Given the description of an element on the screen output the (x, y) to click on. 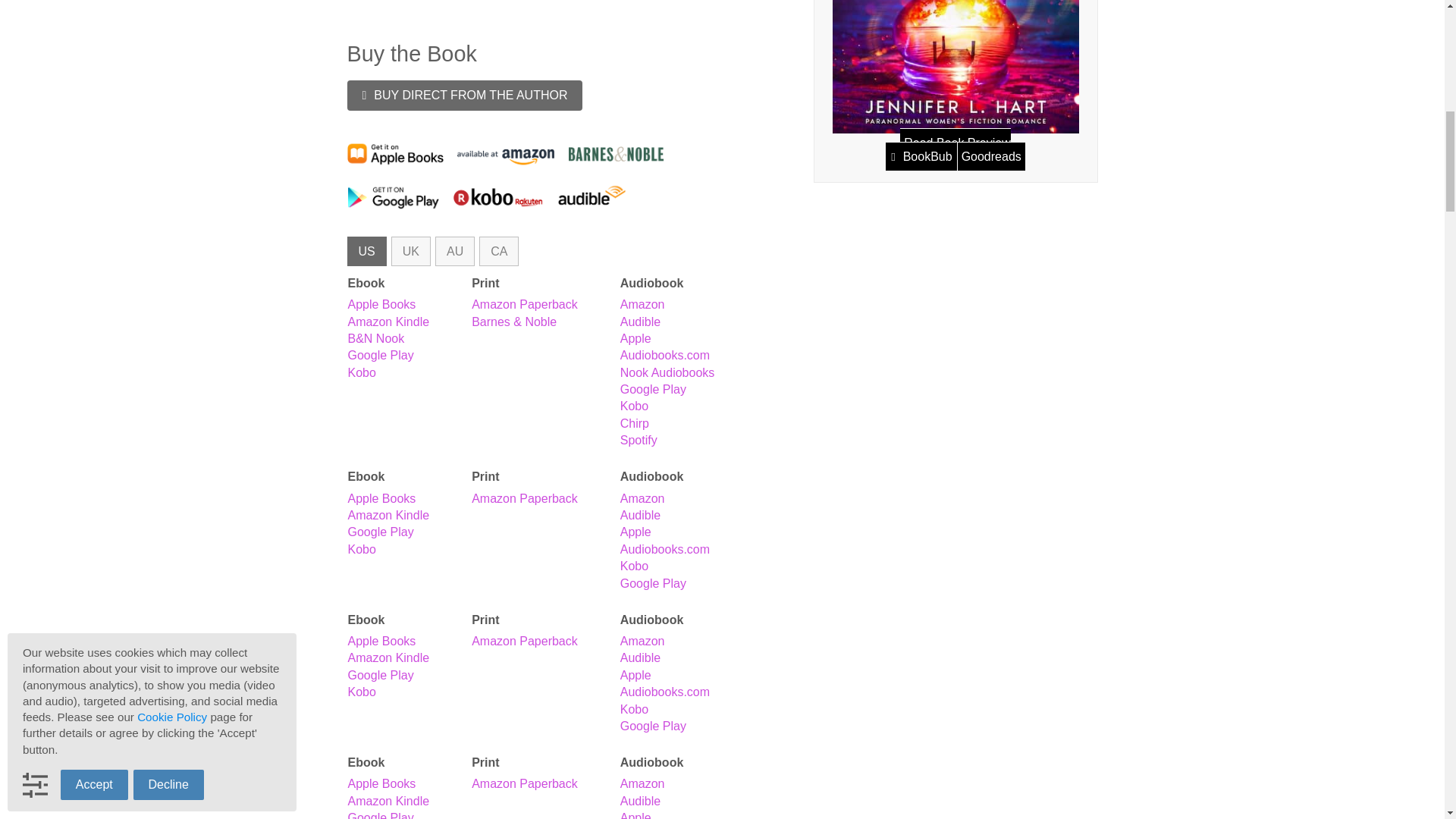
Read Book Preview (947, 148)
BookBub (927, 155)
Goodreads (990, 155)
BUY DIRECT FROM THE AUTHOR (465, 95)
